Given the description of an element on the screen output the (x, y) to click on. 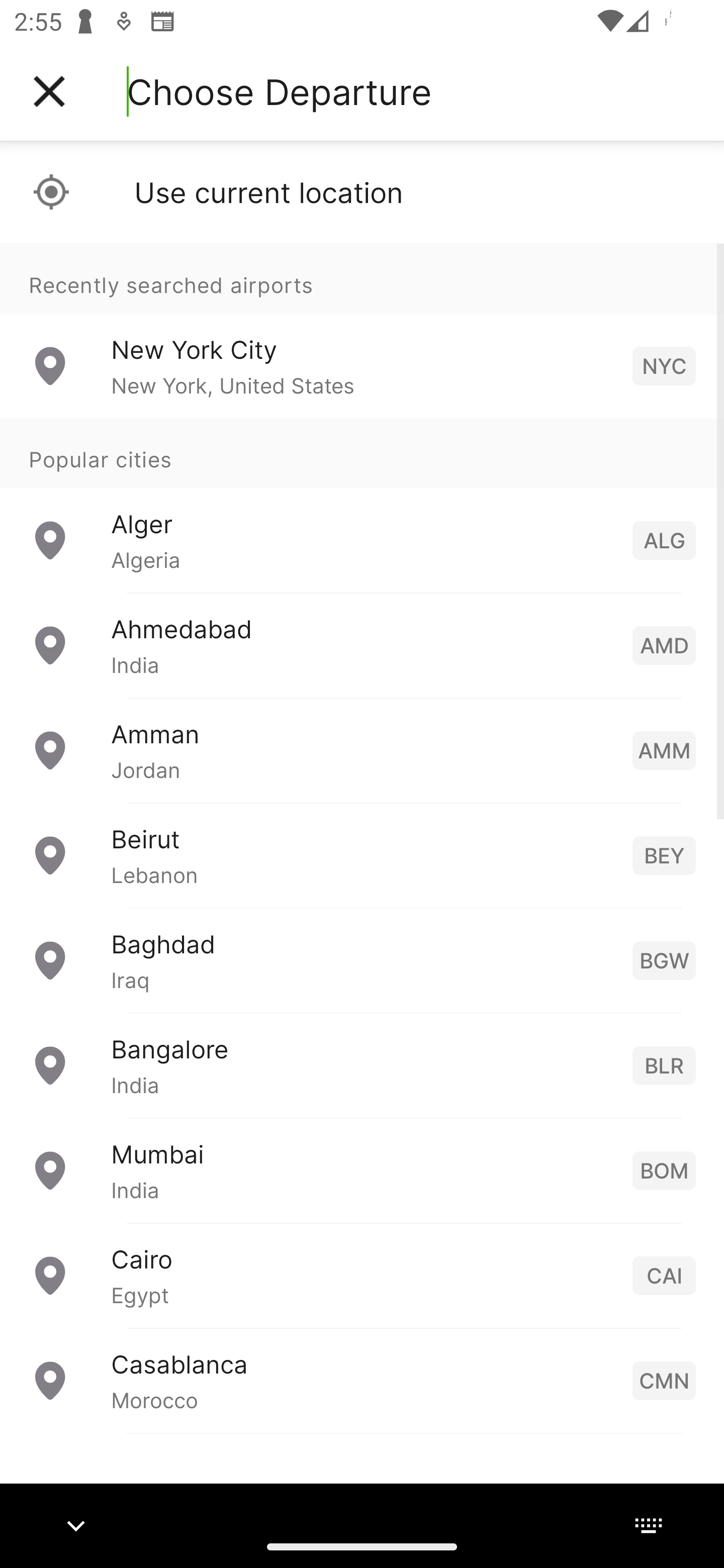
Choose Departure (279, 91)
Use current location (362, 192)
Recently searched airports (362, 278)
Popular cities Alger Algeria ALG (362, 505)
Popular cities (362, 453)
Ahmedabad India AMD (362, 644)
Amman Jordan AMM (362, 749)
Beirut Lebanon BEY (362, 854)
Baghdad Iraq BGW (362, 959)
Bangalore India BLR (362, 1064)
Mumbai India BOM (362, 1170)
Cairo Egypt CAI (362, 1275)
Casablanca Morocco CMN (362, 1380)
